Given the description of an element on the screen output the (x, y) to click on. 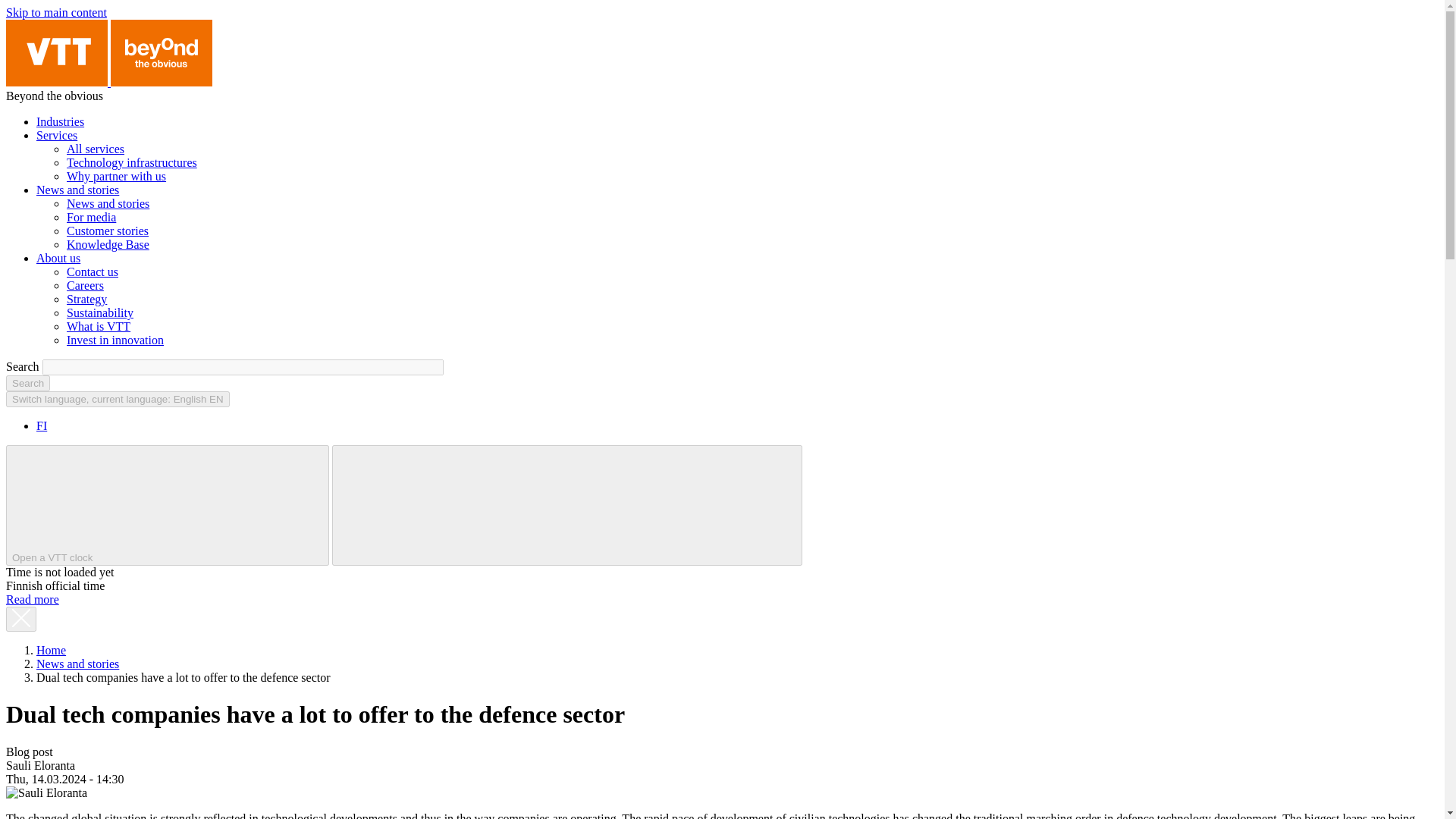
News and stories (77, 189)
Customer stories (107, 230)
Knowledge Base (107, 244)
News and stories (107, 203)
Open a VTT clock Finnish official time (167, 505)
Skip to main content (55, 11)
Close mobile menu (682, 504)
Open mobile menu (451, 504)
Why partner with us (115, 175)
What is VTT (98, 326)
